Given the description of an element on the screen output the (x, y) to click on. 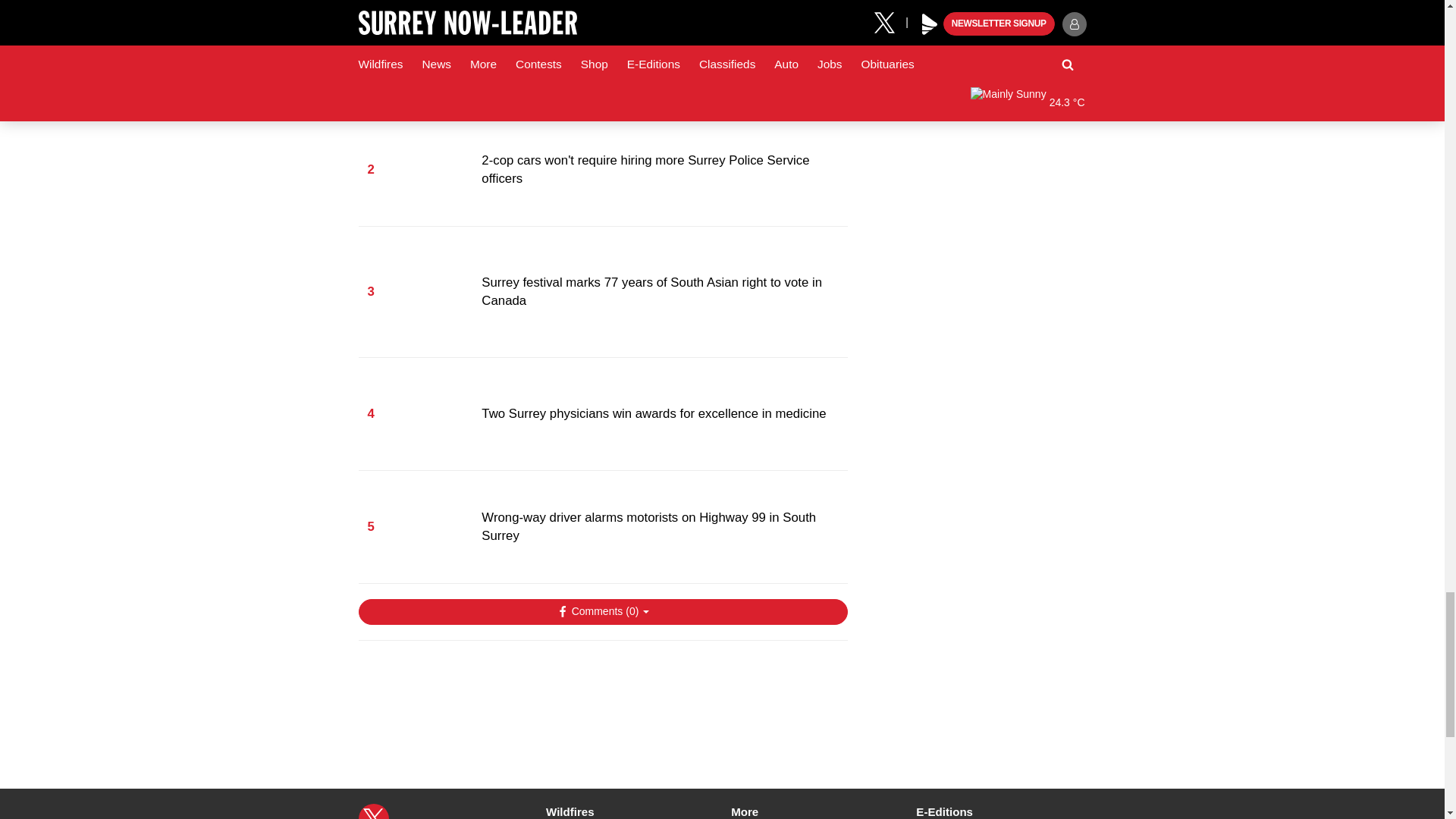
Show Comments (602, 611)
X (373, 811)
